Given the description of an element on the screen output the (x, y) to click on. 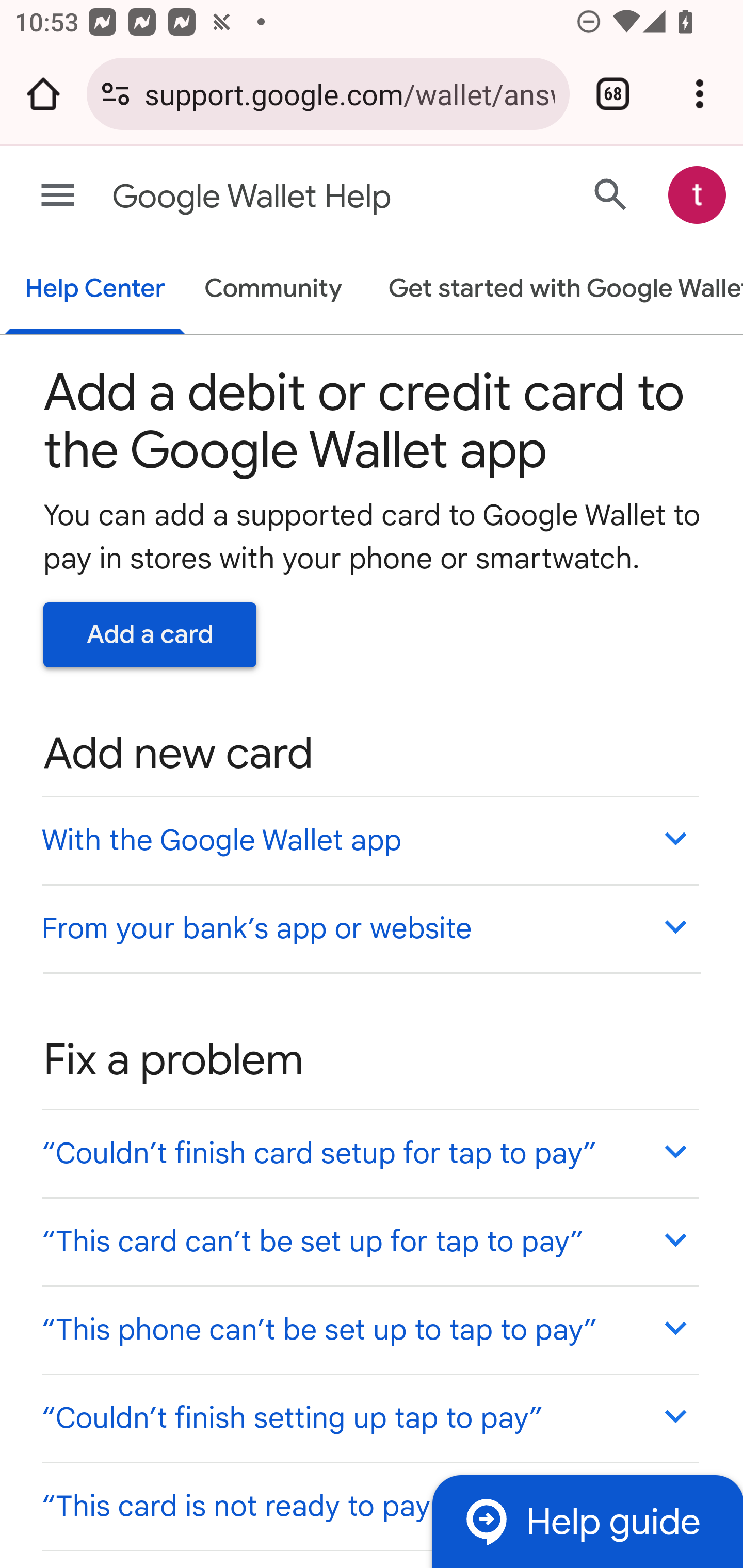
Open the home page (43, 93)
Connection is secure (115, 93)
Switch or close tabs (612, 93)
Customize and control Google Chrome (699, 93)
Main menu (58, 195)
Google Wallet Help (292, 197)
Search Help Center (611, 194)
Help Center (94, 289)
Community (273, 289)
Get started with Google Wallet (555, 289)
Add a card (150, 633)
With the Google Wallet app (369, 839)
From your bank’s app or website (369, 927)
“Couldn’t finish card setup for tap to pay” (369, 1152)
“This card can’t be set up for tap to pay” (369, 1240)
“This phone can’t be set up to tap to pay” (369, 1329)
“Couldn’t finish setting up tap to pay” (369, 1417)
“This card is not ready to pay online” (369, 1504)
Help guide (587, 1520)
